Given the description of an element on the screen output the (x, y) to click on. 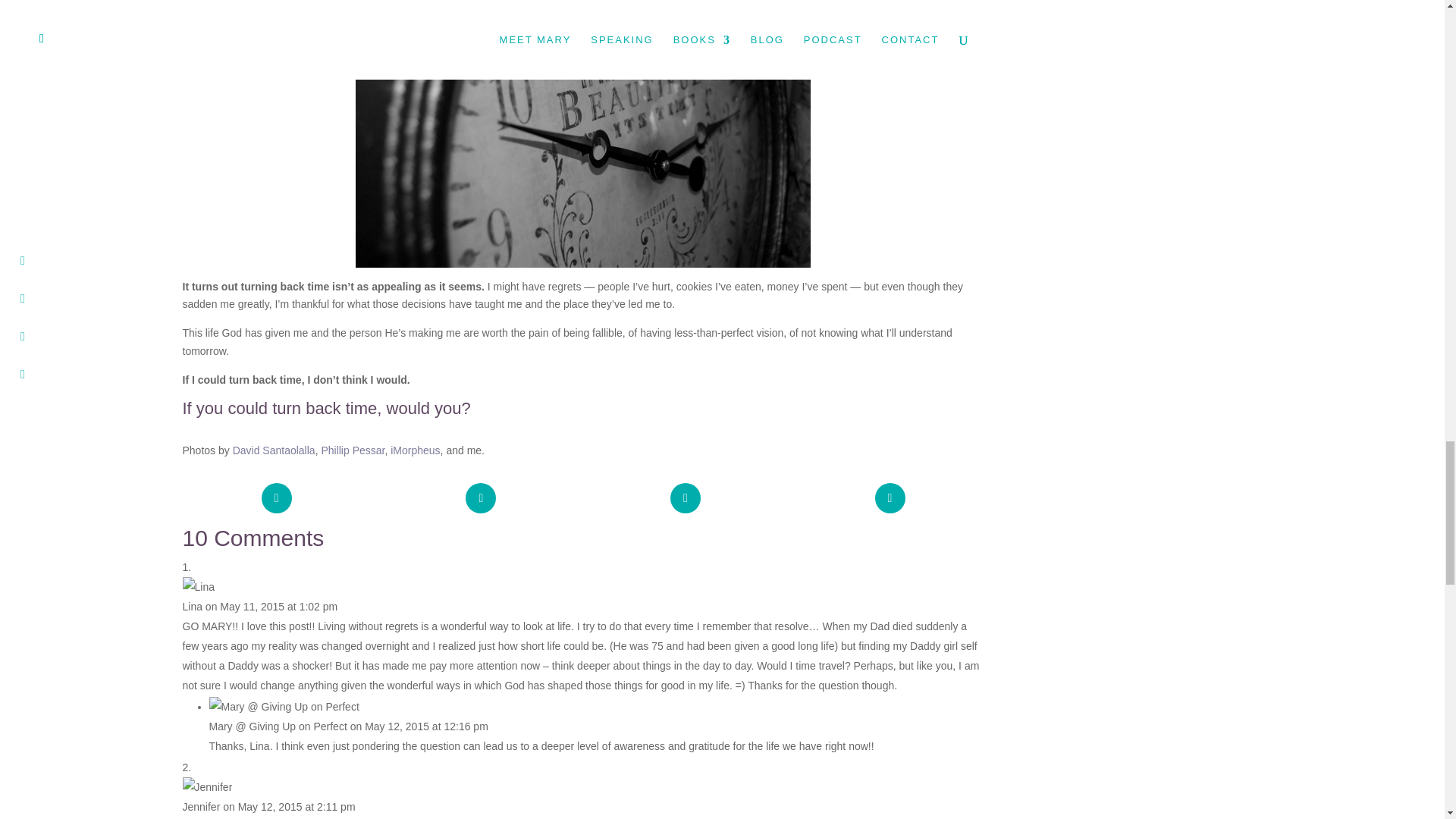
iMorpheus (414, 450)
Phillip Pessar (352, 450)
David Santaolalla (273, 450)
